Given the description of an element on the screen output the (x, y) to click on. 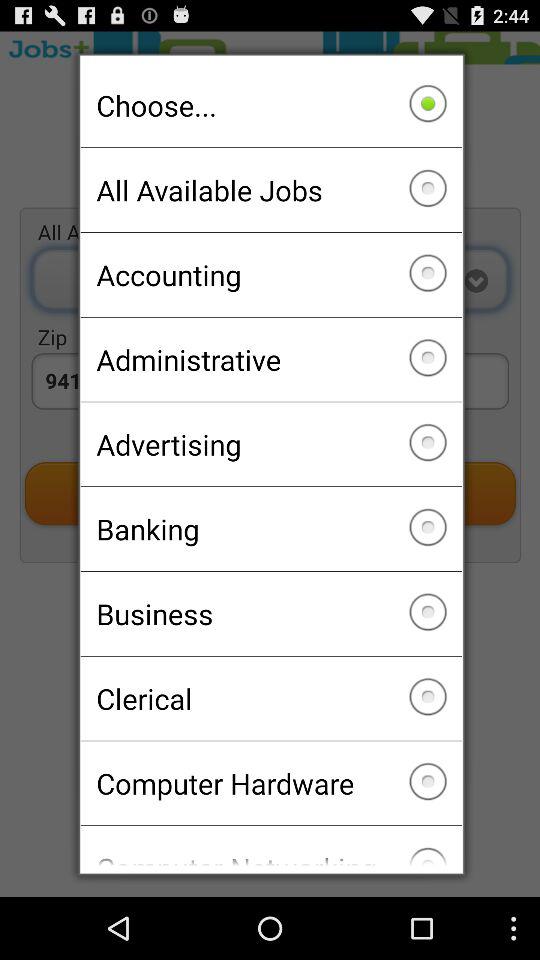
turn on item above computer hardware (270, 698)
